Given the description of an element on the screen output the (x, y) to click on. 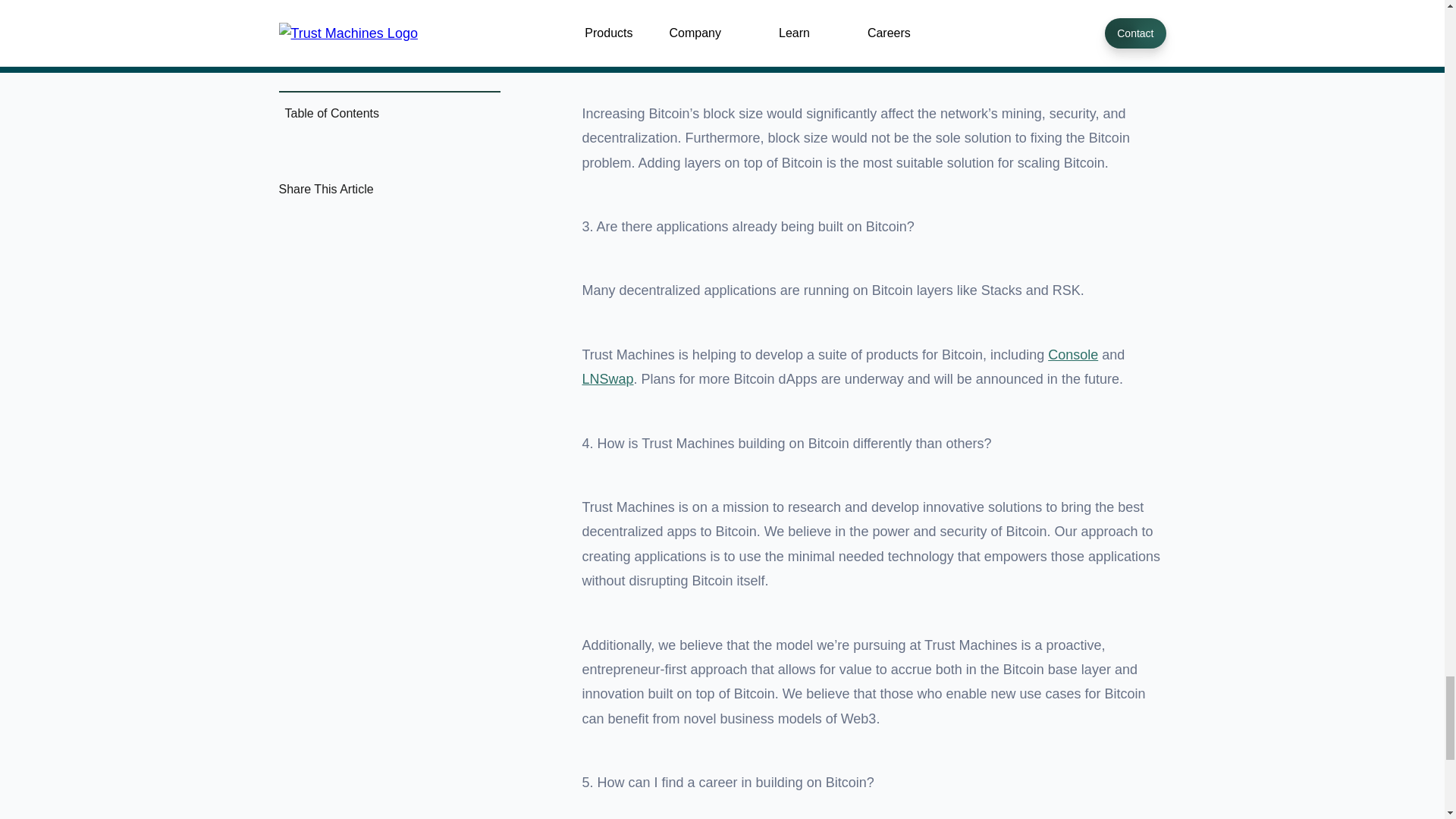
LNSwap (607, 378)
Console (1072, 354)
